Given the description of an element on the screen output the (x, y) to click on. 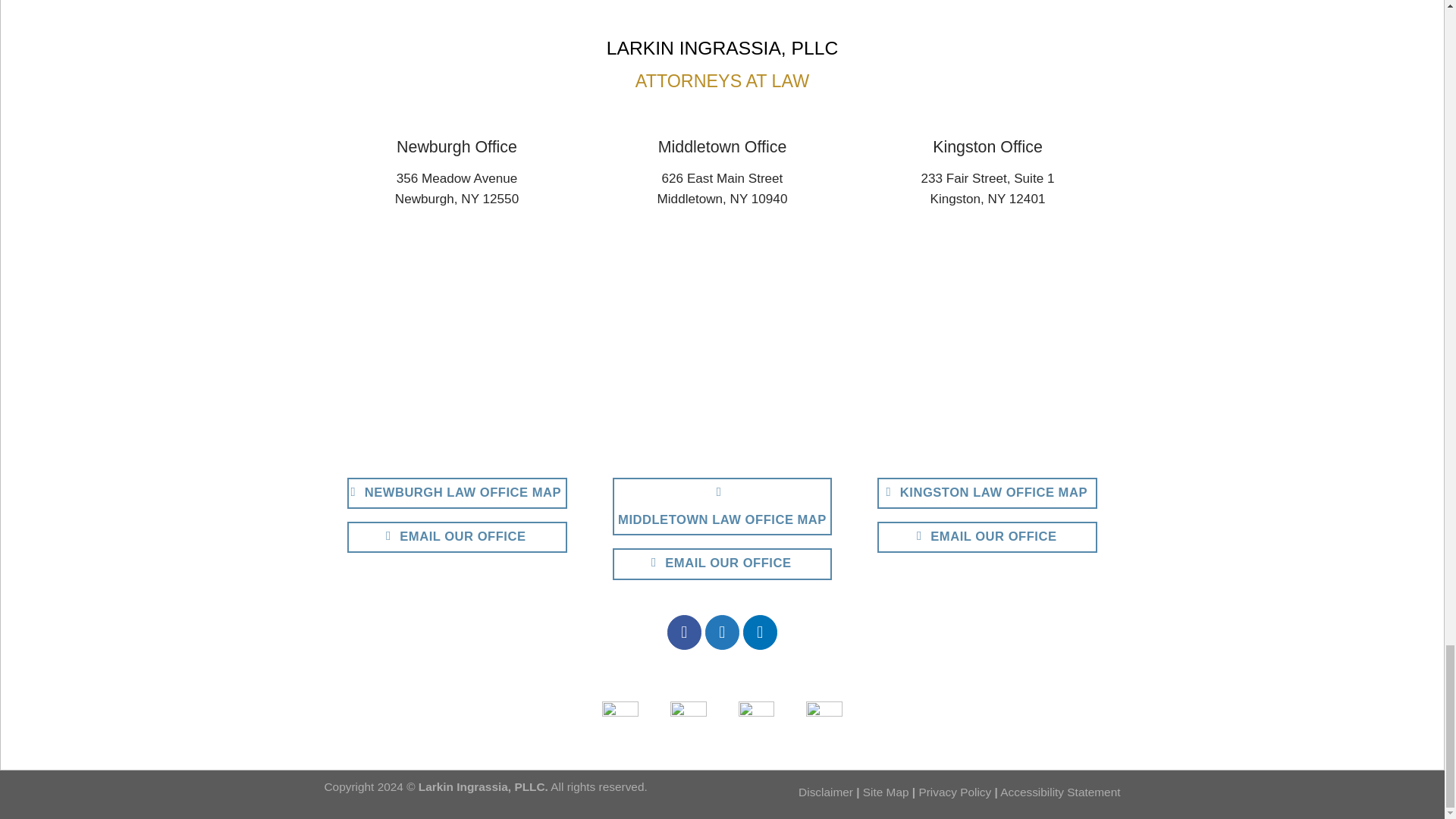
Follow on Twitter (721, 632)
EMAIL OUR OFFICE (457, 537)
KINGSTON LAW OFFICE MAP (987, 493)
MIDDLETOWN LAW OFFICE MAP (722, 506)
EMAIL OUR OFFICE (987, 537)
Follow on Facebook (683, 632)
EMAIL OUR OFFICE (722, 563)
Disclaimer (825, 791)
Follow on LinkedIn (759, 632)
NEWBURGH LAW OFFICE MAP (457, 493)
